Given the description of an element on the screen output the (x, y) to click on. 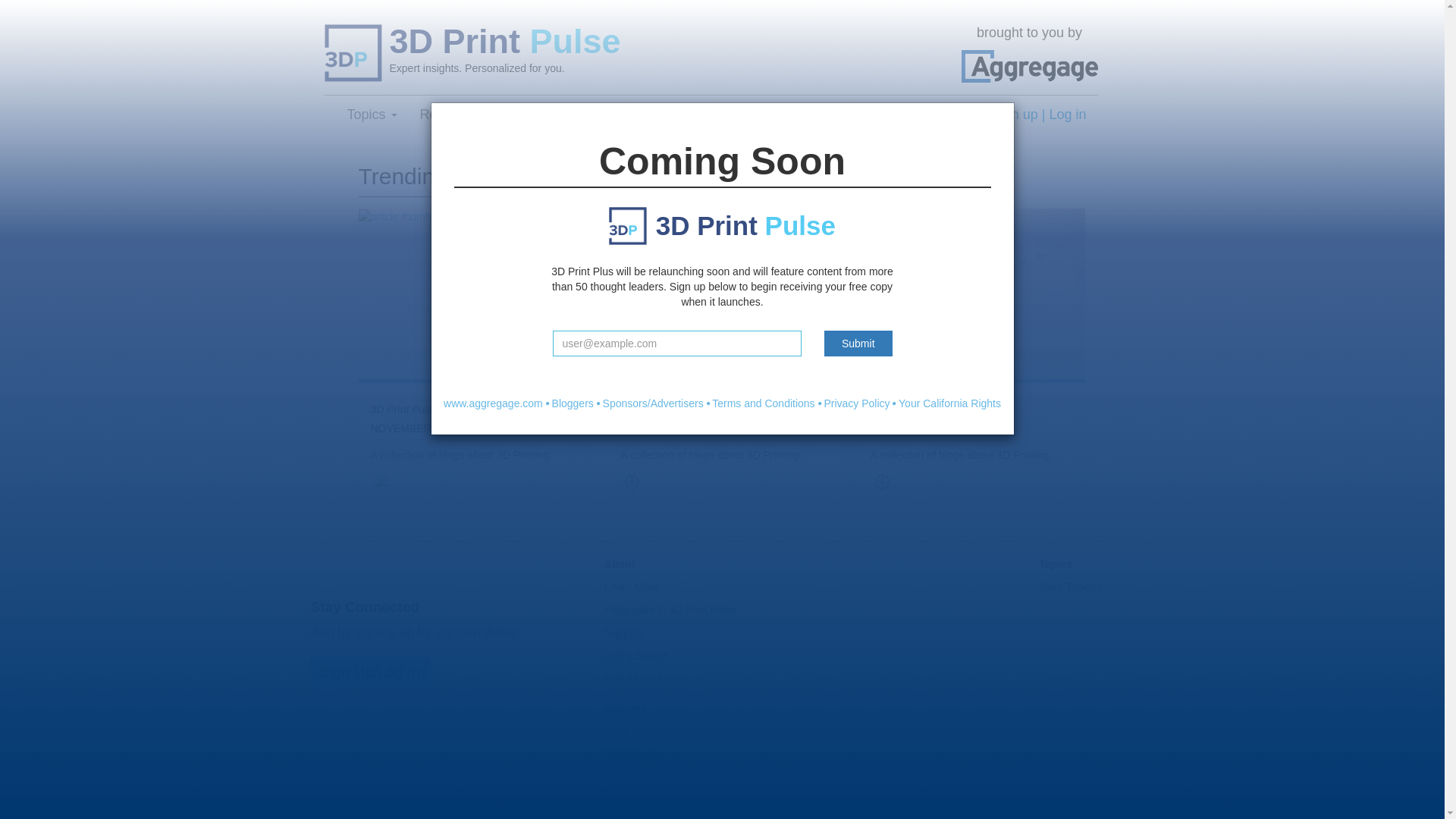
Topics Element type: text (371, 114)
Fri. Nov 17 Element type: text (629, 776)
Add a Resource Element type: text (642, 677)
Wed. Nov 22 Element type: text (634, 730)
Wed. Nov 15 Element type: text (634, 799)
Submit Element type: text (858, 343)
Sign Up/Log In Element type: text (369, 671)
Sponsors/Advertisers Element type: text (652, 403)
www.aggregage.com Element type: text (492, 403)
Privacy Policy Element type: text (856, 403)
Your California Rights Element type: text (949, 403)
Aggregage Element type: hover (1029, 66)
Terms and Conditions Element type: text (763, 403)
Sign up | Log in Element type: text (1039, 114)
Sat. Nov 18 Element type: text (631, 753)
Add a Source Element type: text (636, 655)
Participate in 3D Print Pulse Element type: text (670, 609)
More Topics  Element type: text (1070, 586)
Resources Element type: text (458, 114)
Learn More Element type: text (631, 586)
3D Print Pulse Element type: text (671, 41)
Learn More Element type: text (559, 114)
Support Element type: text (622, 632)
Bloggers Element type: text (572, 403)
